Given the description of an element on the screen output the (x, y) to click on. 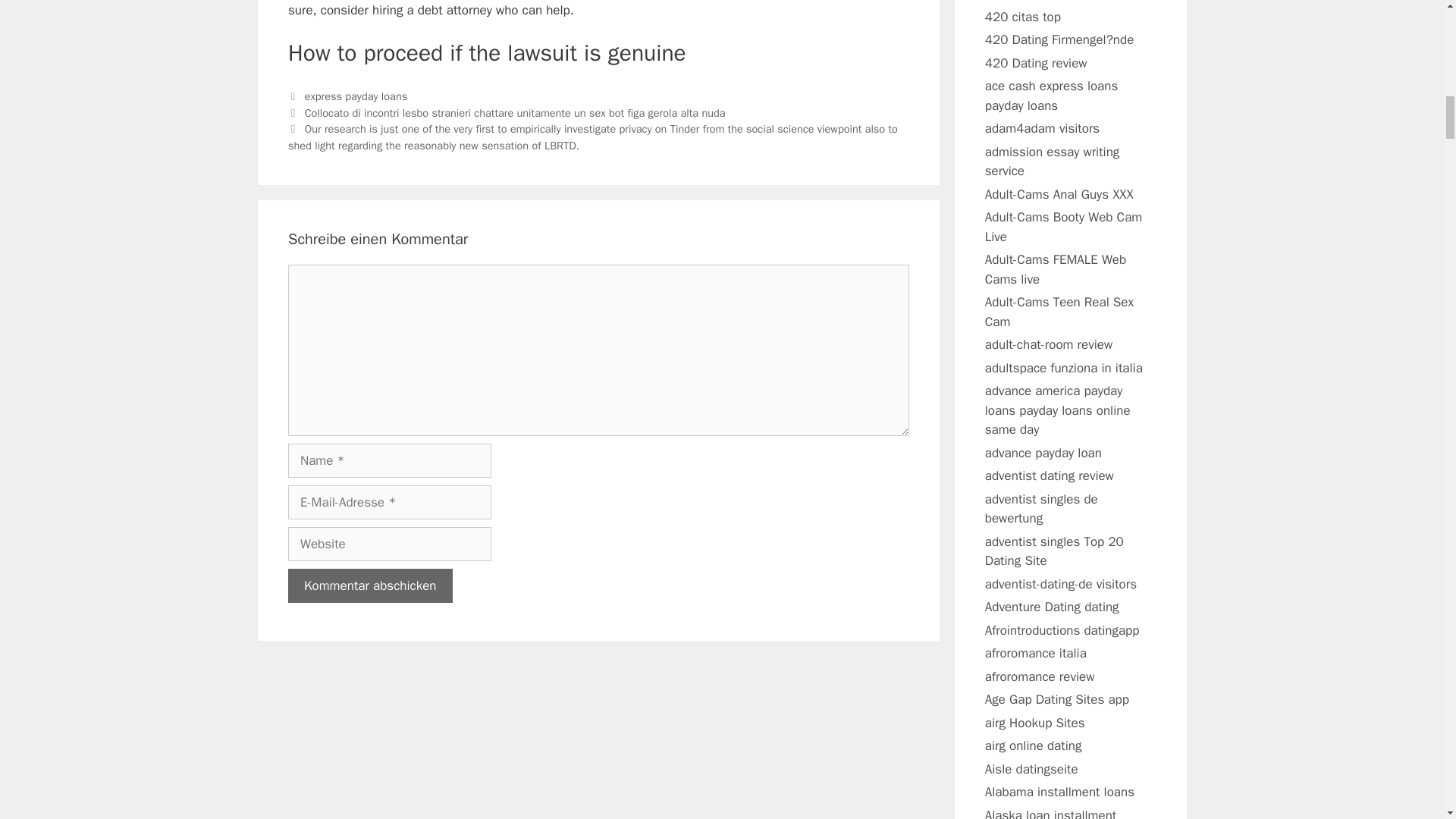
Kommentar abschicken (370, 585)
Kommentar abschicken (370, 585)
express payday loans (355, 96)
Weiter (593, 137)
